Given the description of an element on the screen output the (x, y) to click on. 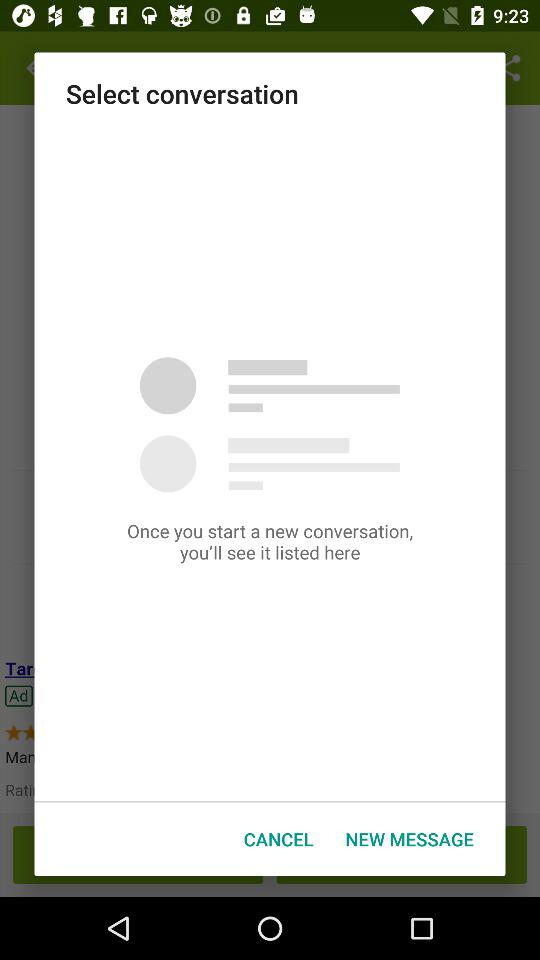
turn off the item at the bottom right corner (409, 838)
